Given the description of an element on the screen output the (x, y) to click on. 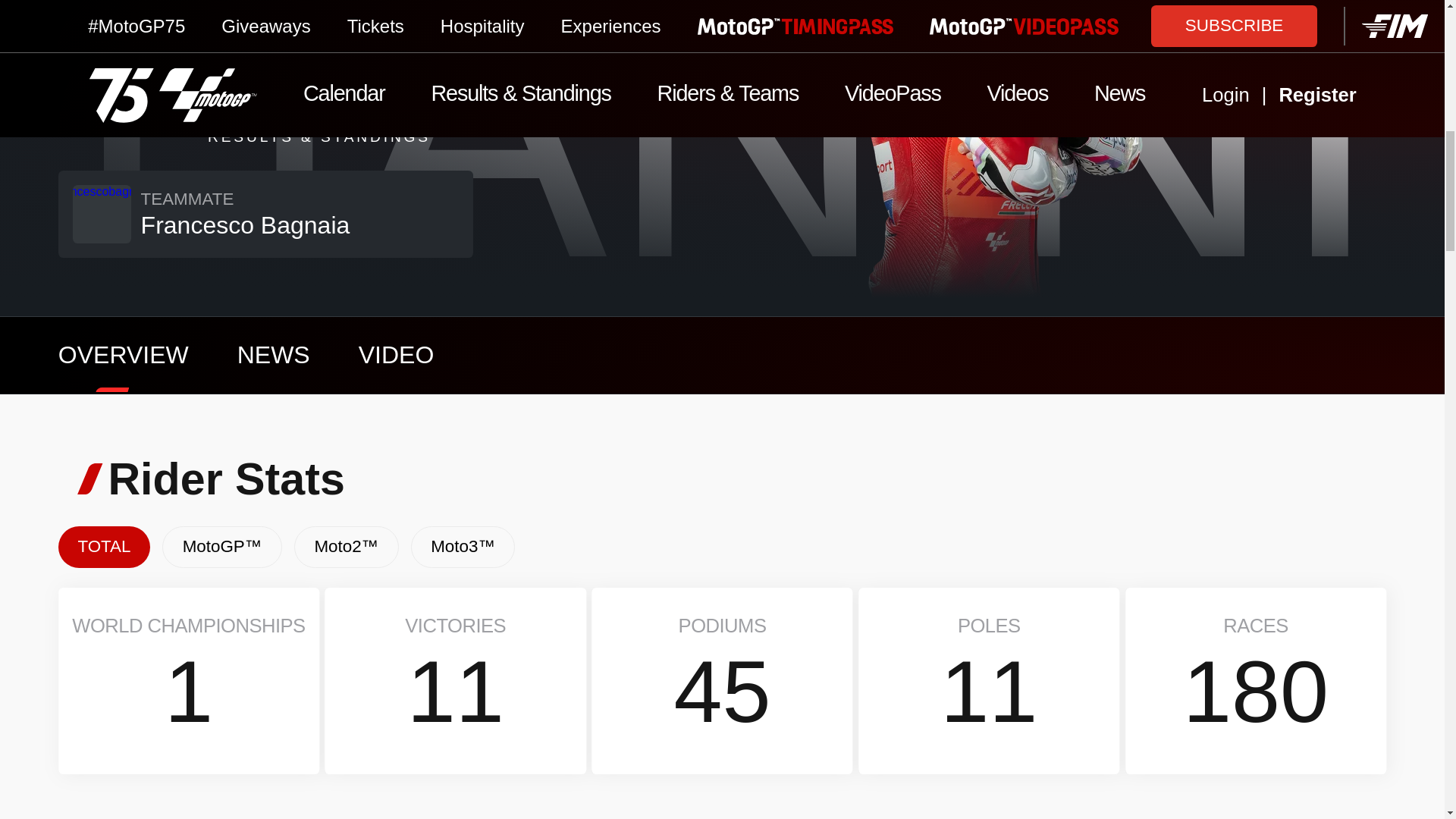
total (103, 547)
